Given the description of an element on the screen output the (x, y) to click on. 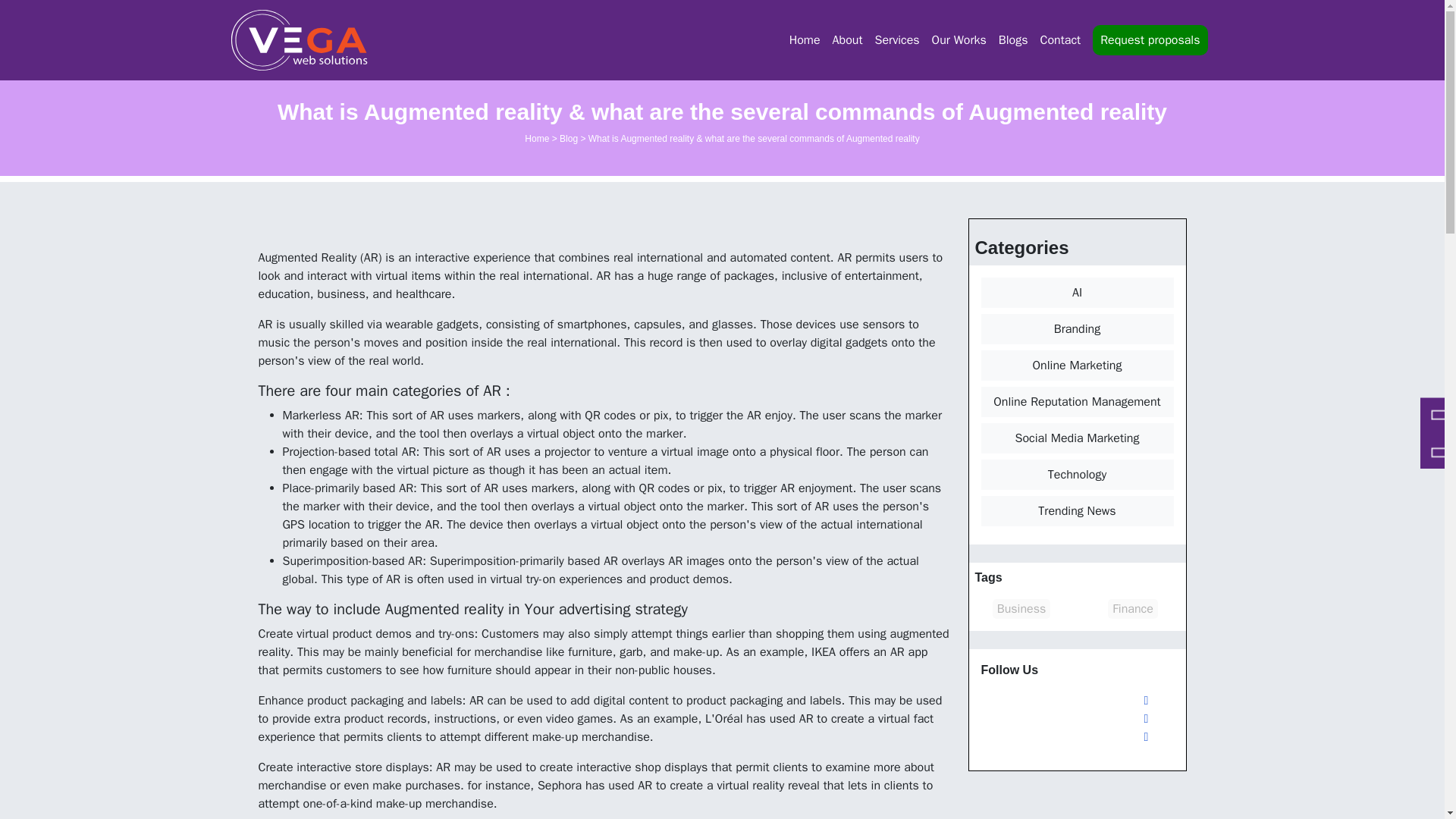
Home (805, 40)
Blogs (1012, 40)
Request proposals (1149, 40)
About (848, 40)
Business (1021, 608)
Services (897, 40)
Blog (568, 138)
Finance (1132, 608)
Our Works (959, 40)
Contact (1060, 40)
